Given the description of an element on the screen output the (x, y) to click on. 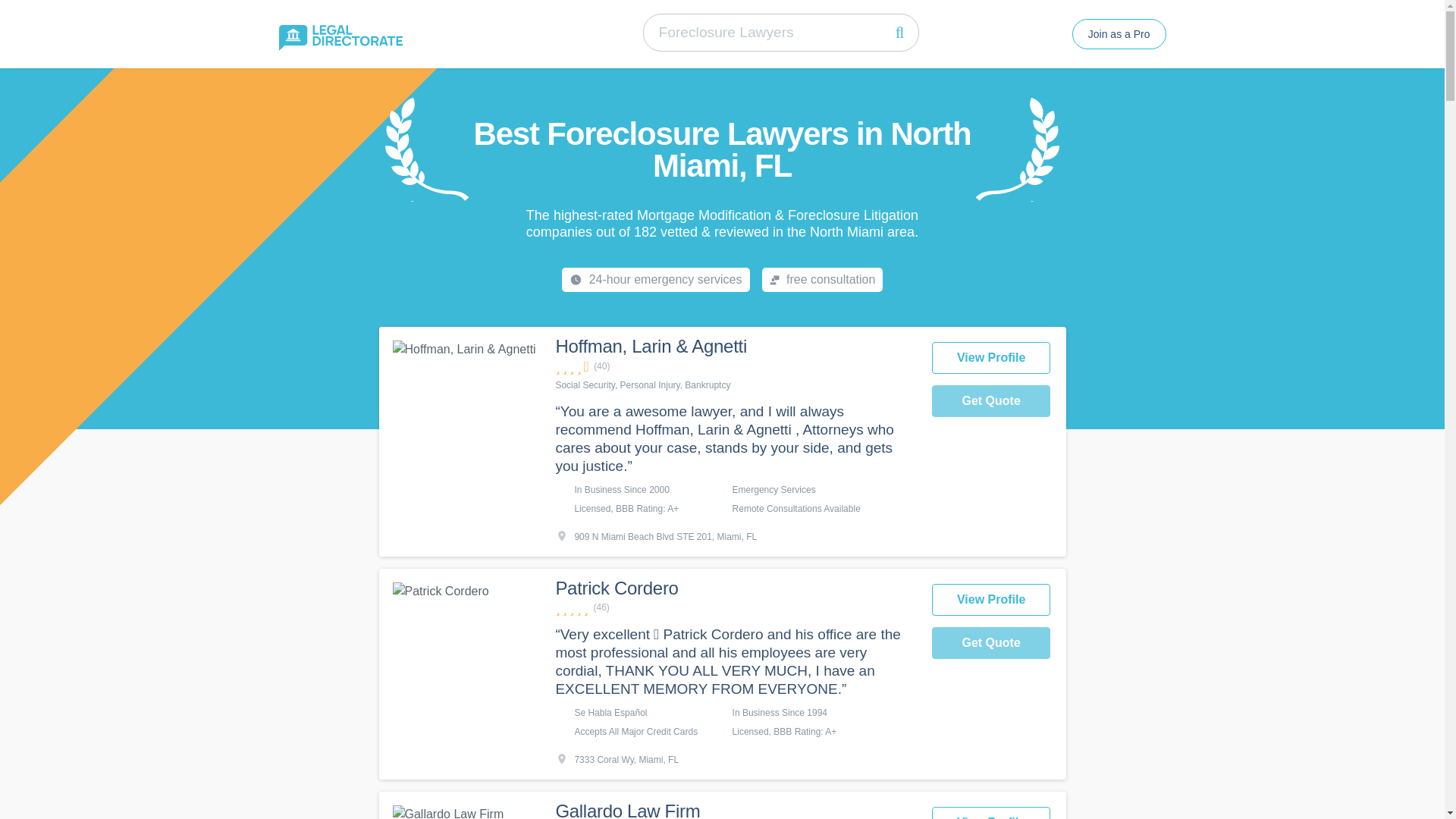
Search (899, 32)
Join as a Pro (1118, 33)
24-hour emergency services (655, 279)
4.9 (734, 607)
Get Quote (991, 643)
free consultation (821, 279)
Search (899, 32)
Search (899, 32)
Get Quote (991, 400)
4.6 (734, 366)
